Given the description of an element on the screen output the (x, y) to click on. 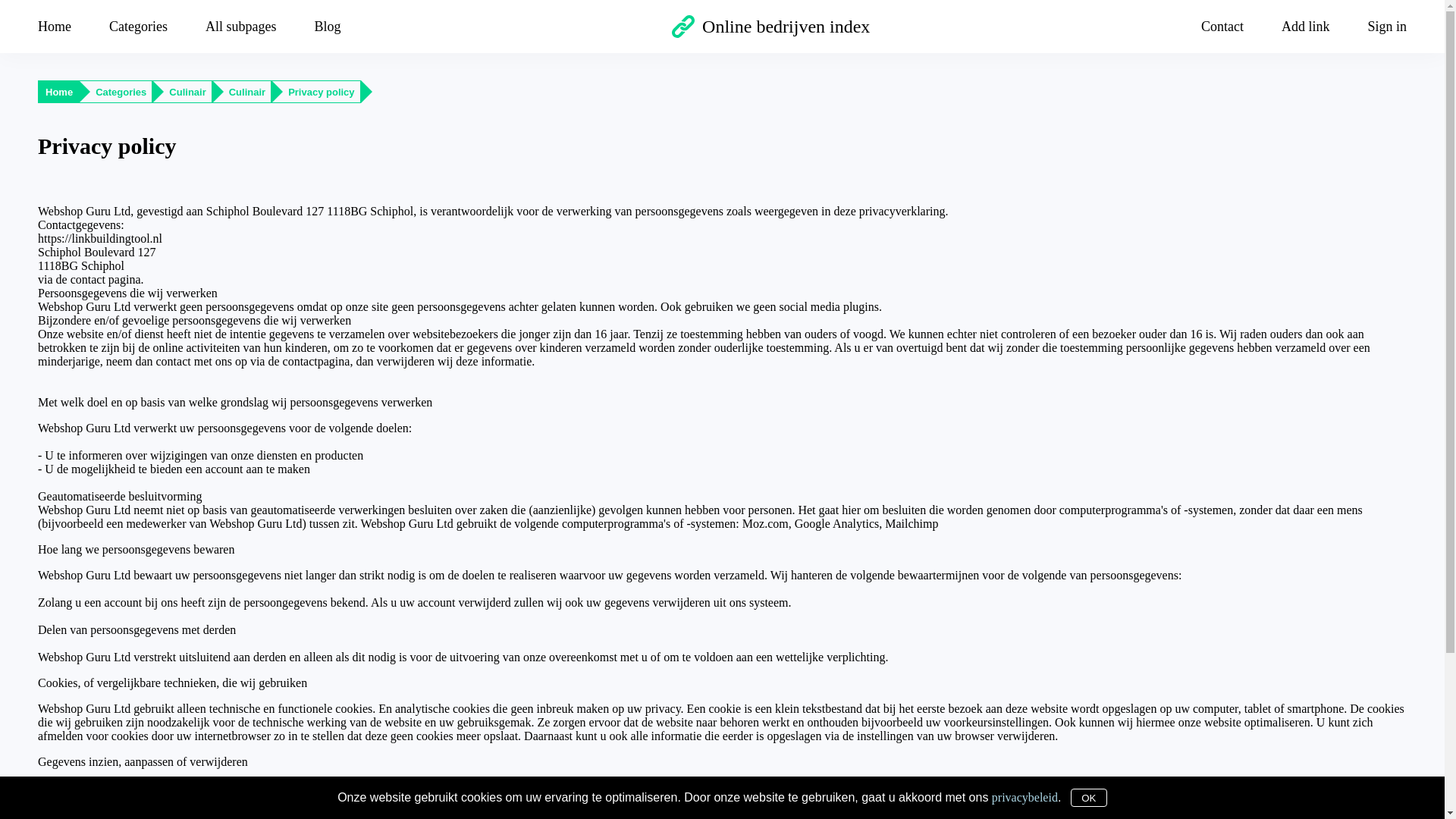
Contact Element type: text (1222, 25)
Add link Element type: text (1305, 25)
Online bedrijven index Element type: text (770, 26)
Privacy Policy Element type: text (697, 803)
Home Element type: text (58, 91)
Culinair Element type: text (247, 91)
All subpages Element type: text (240, 25)
Privacy policy Element type: text (321, 91)
Sign in Element type: text (1377, 25)
Contact Element type: text (825, 803)
Culinair Element type: text (187, 91)
Terms & Conditions Element type: text (768, 803)
Blog Element type: text (326, 25)
aecm.be Element type: text (649, 803)
Home Element type: text (63, 25)
OK Element type: text (1088, 797)
Categories Element type: text (120, 91)
Categories Element type: text (138, 25)
privacybeleid Element type: text (1024, 796)
